Given the description of an element on the screen output the (x, y) to click on. 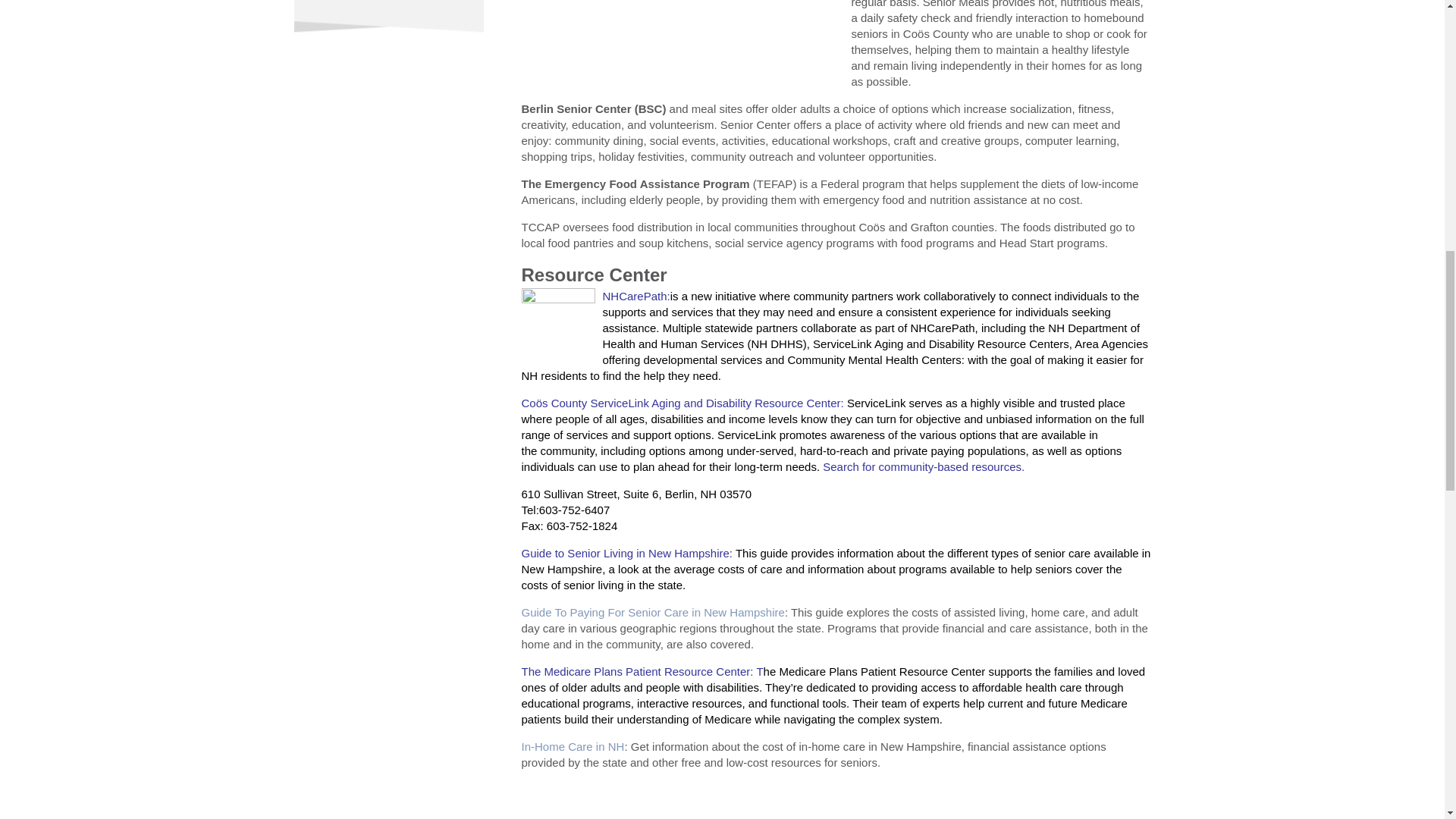
NHCarePath: (635, 295)
